Given the description of an element on the screen output the (x, y) to click on. 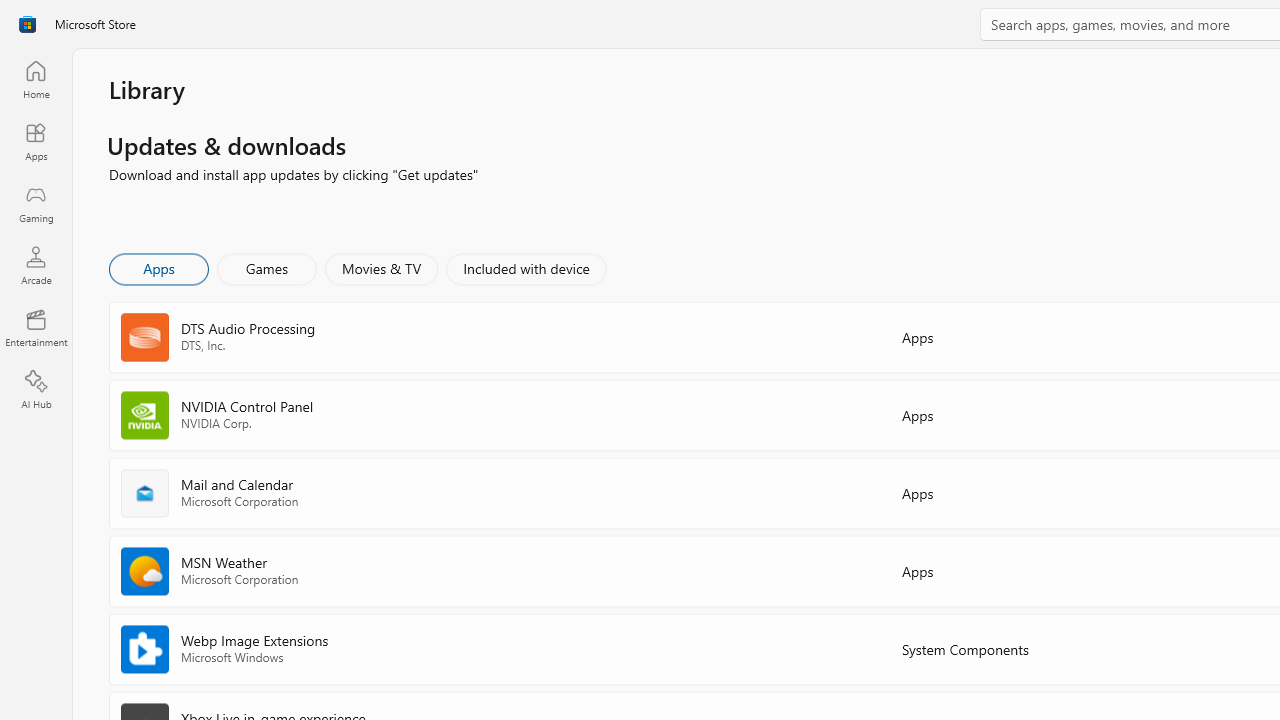
Included with device (525, 268)
Games (267, 268)
Gaming (35, 203)
Home (35, 79)
AI Hub (35, 390)
Arcade (35, 265)
Movies & TV (381, 268)
